Given the description of an element on the screen output the (x, y) to click on. 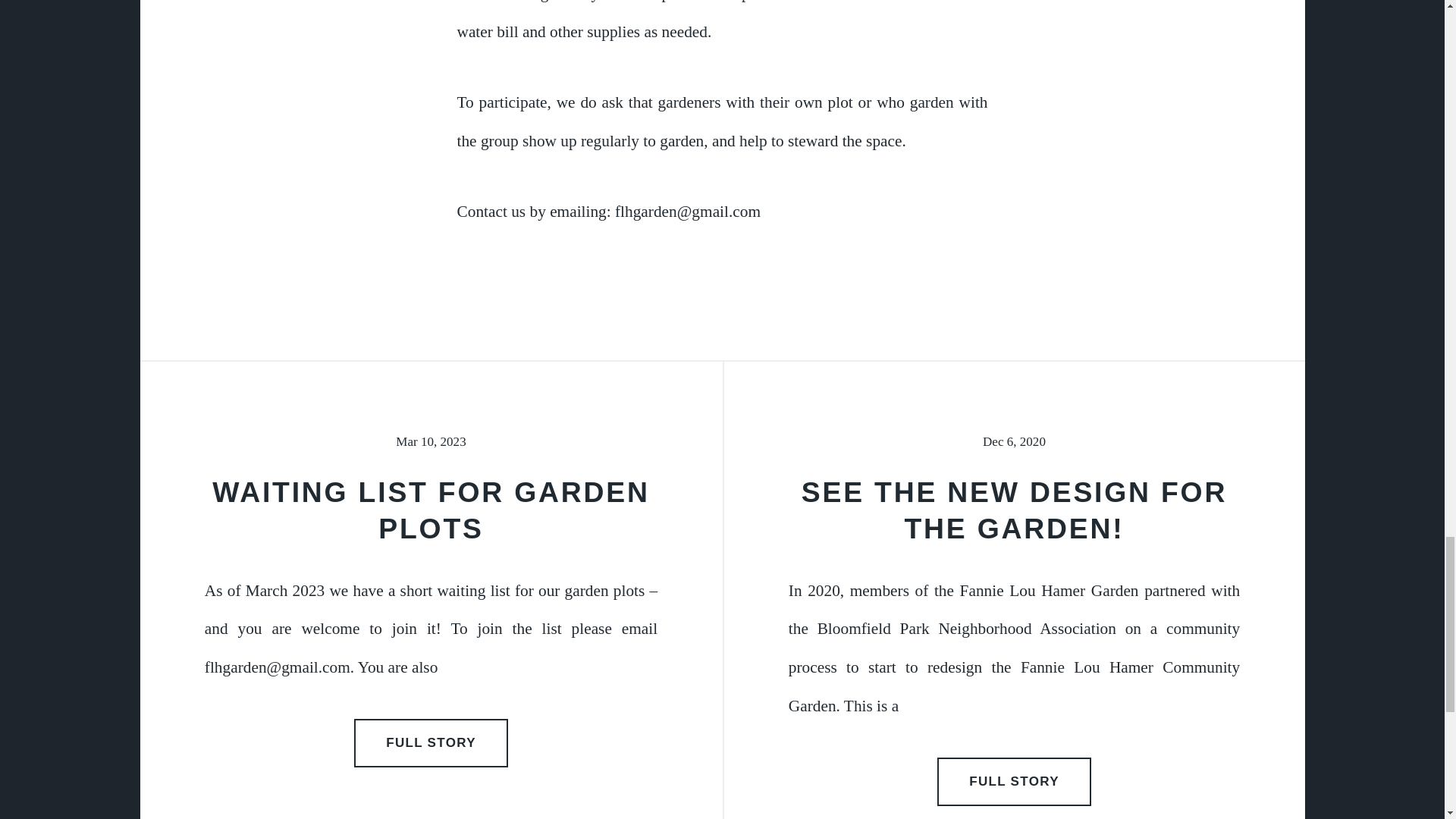
FULL STORY (1014, 781)
SEE THE NEW DESIGN FOR THE GARDEN! (1014, 510)
WAITING LIST FOR GARDEN PLOTS (430, 510)
FULL STORY (430, 743)
